Given the description of an element on the screen output the (x, y) to click on. 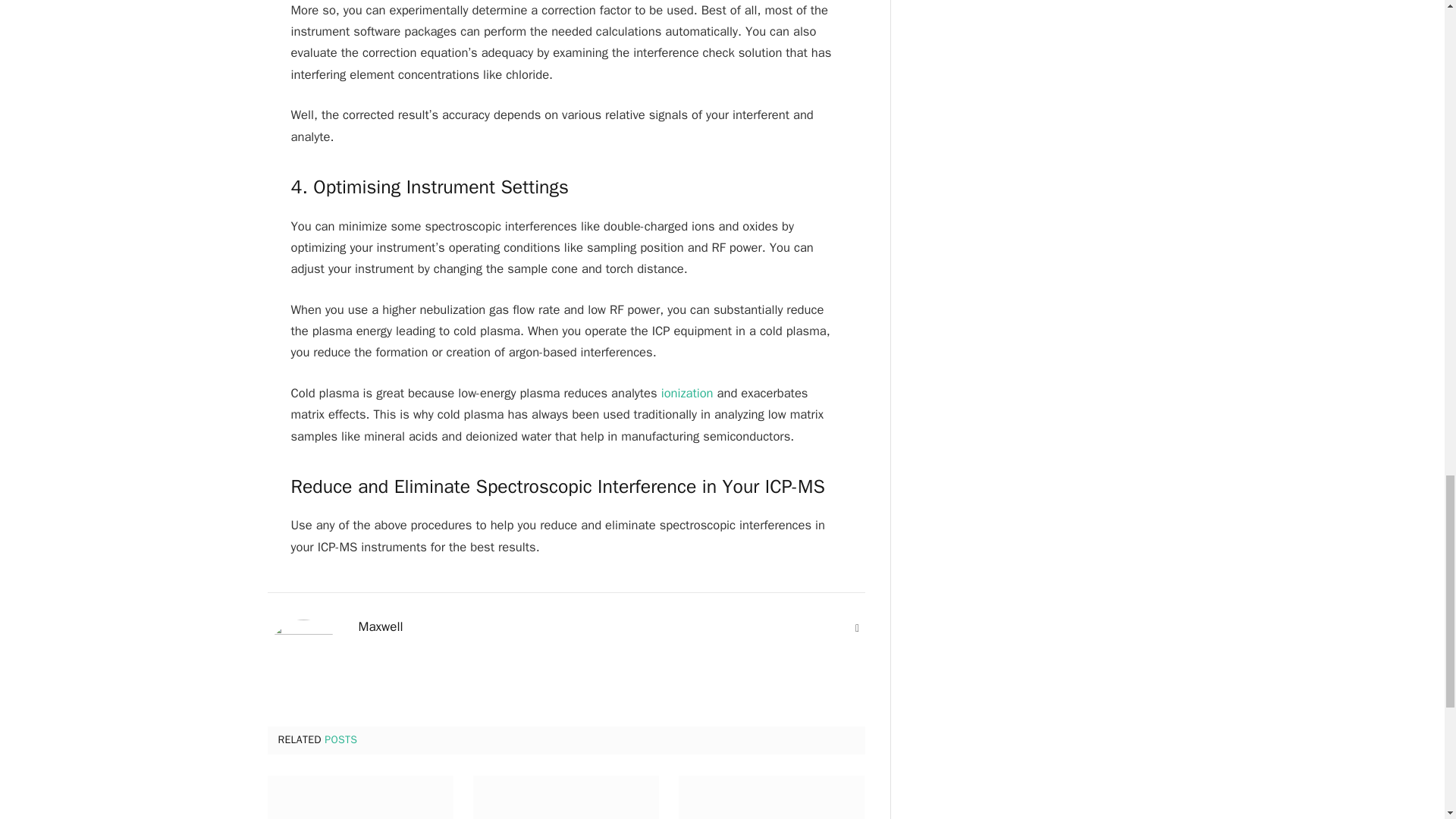
ionization (687, 392)
Maxwell (380, 626)
Website (856, 628)
Website (856, 628)
Posts by Maxwell (380, 626)
